Given the description of an element on the screen output the (x, y) to click on. 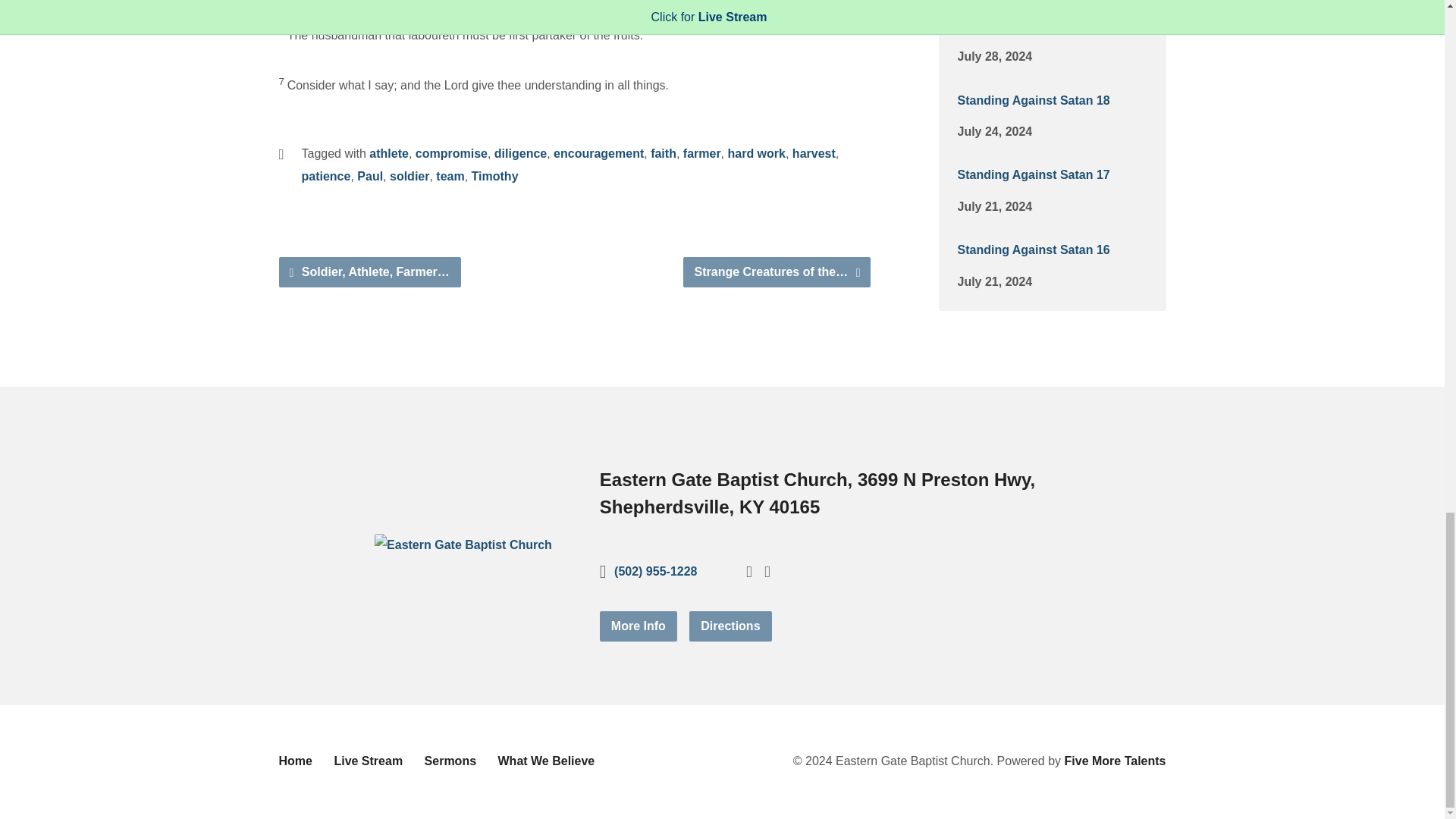
Standing Against Satan 17 (1032, 174)
Eastern Gate Baptist Church (462, 544)
Standing Against Satan 18 (1032, 100)
diligence (521, 153)
Standing Against Satan 16 (1032, 249)
athlete (389, 153)
Standing Against Satan 19 (1032, 24)
encouragement (598, 153)
compromise (450, 153)
